Given the description of an element on the screen output the (x, y) to click on. 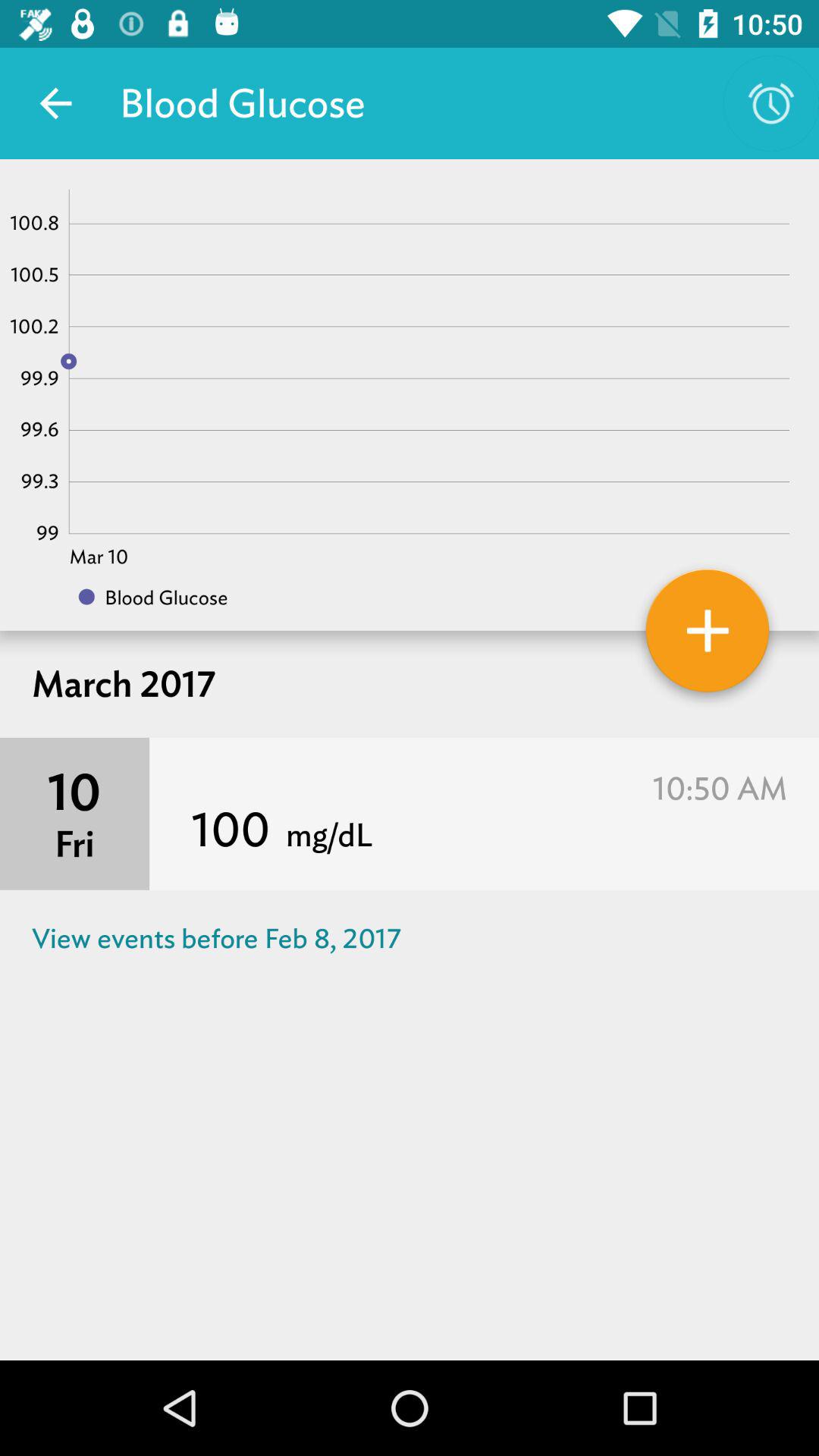
launch march 2017 (409, 683)
